Given the description of an element on the screen output the (x, y) to click on. 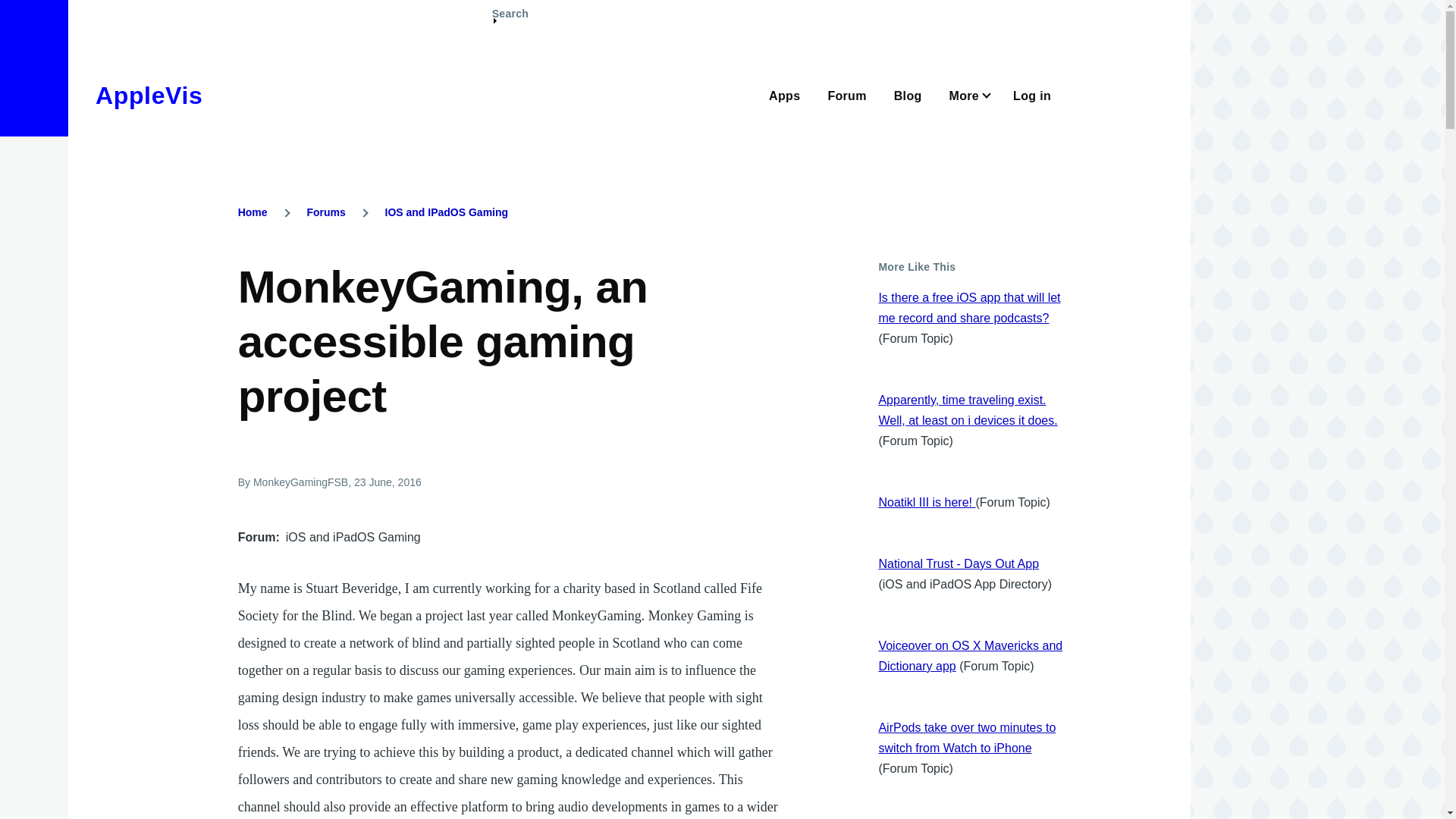
Noatikl III is here! (926, 502)
Home (252, 212)
Skip to main content (595, 6)
AirPods take over two minutes to switch from Watch to iPhone (966, 737)
National Trust - Days Out App (958, 563)
Voiceover on OS X Mavericks and Dictionary app (969, 655)
Search (510, 20)
AppleVis (149, 94)
Home (149, 94)
IOS and IPadOS Gaming (446, 212)
Forums (325, 212)
